Given the description of an element on the screen output the (x, y) to click on. 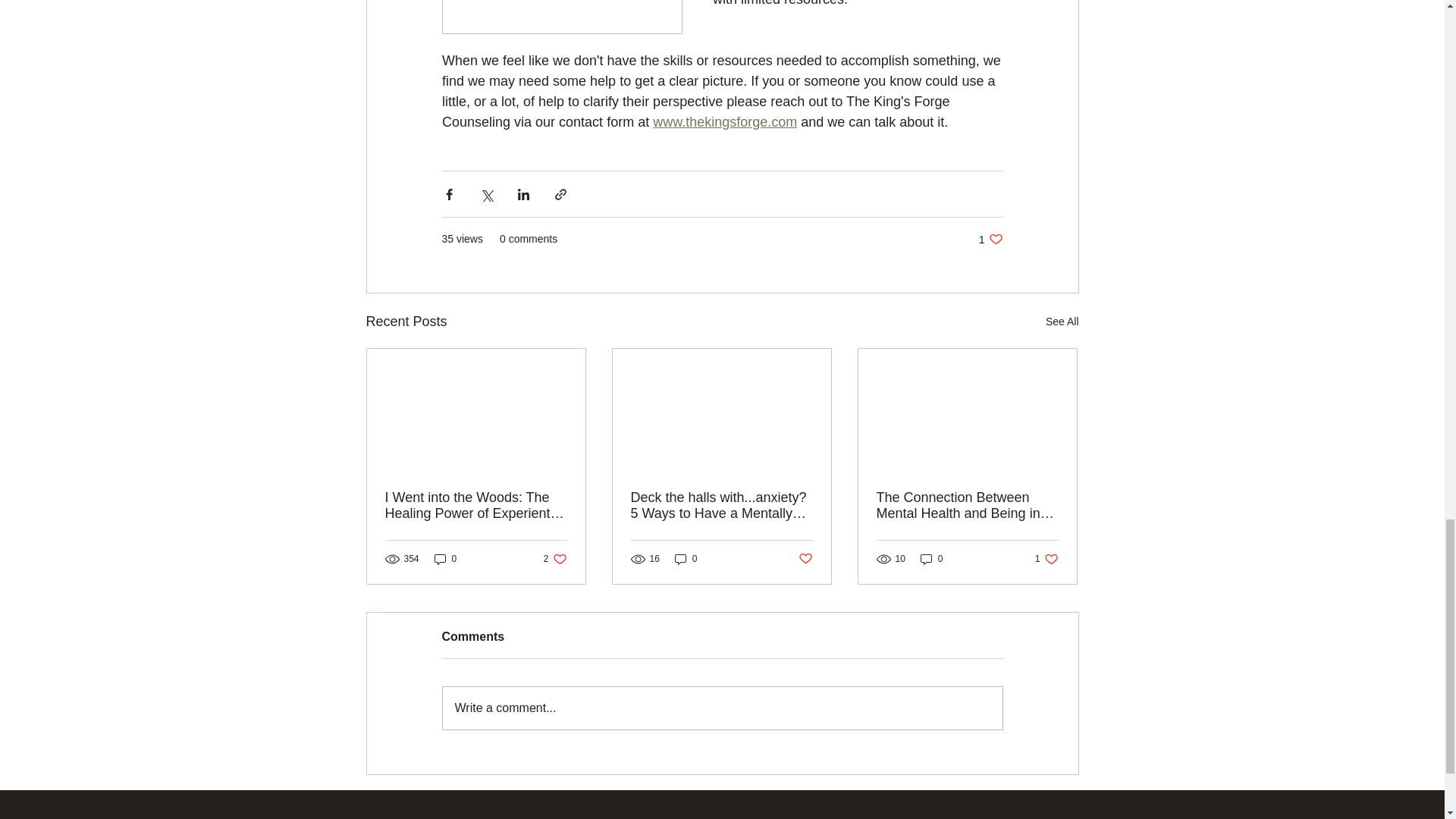
0 (685, 559)
See All (1061, 321)
Write a comment... (722, 708)
0 (931, 559)
0 (445, 559)
www.thekingsforge.com (724, 121)
Post not marked as liked (804, 558)
The Connection Between Mental Health and Being in the Woods (990, 238)
